Given the description of an element on the screen output the (x, y) to click on. 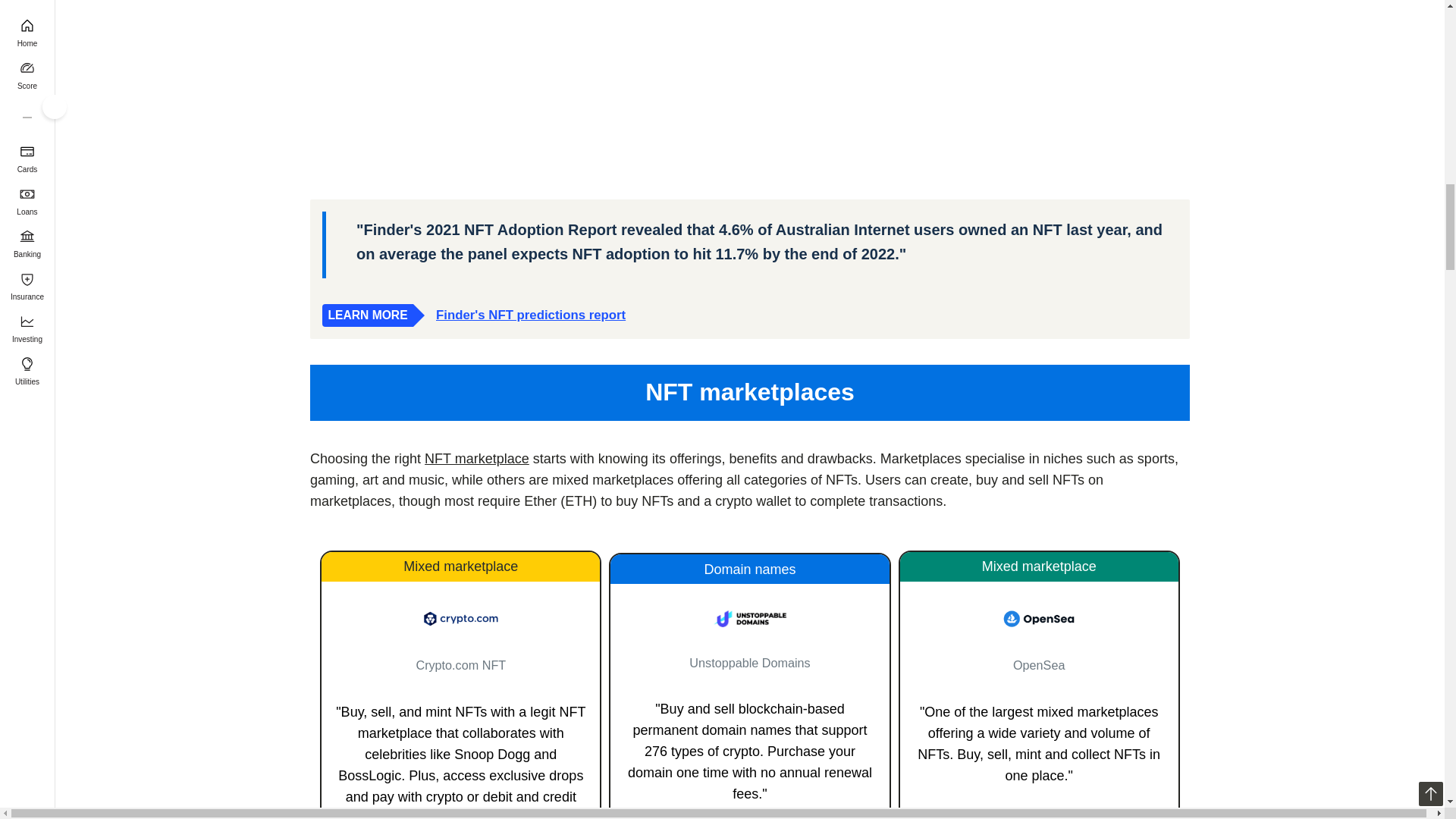
Read OpenSea review (1039, 618)
